Given the description of an element on the screen output the (x, y) to click on. 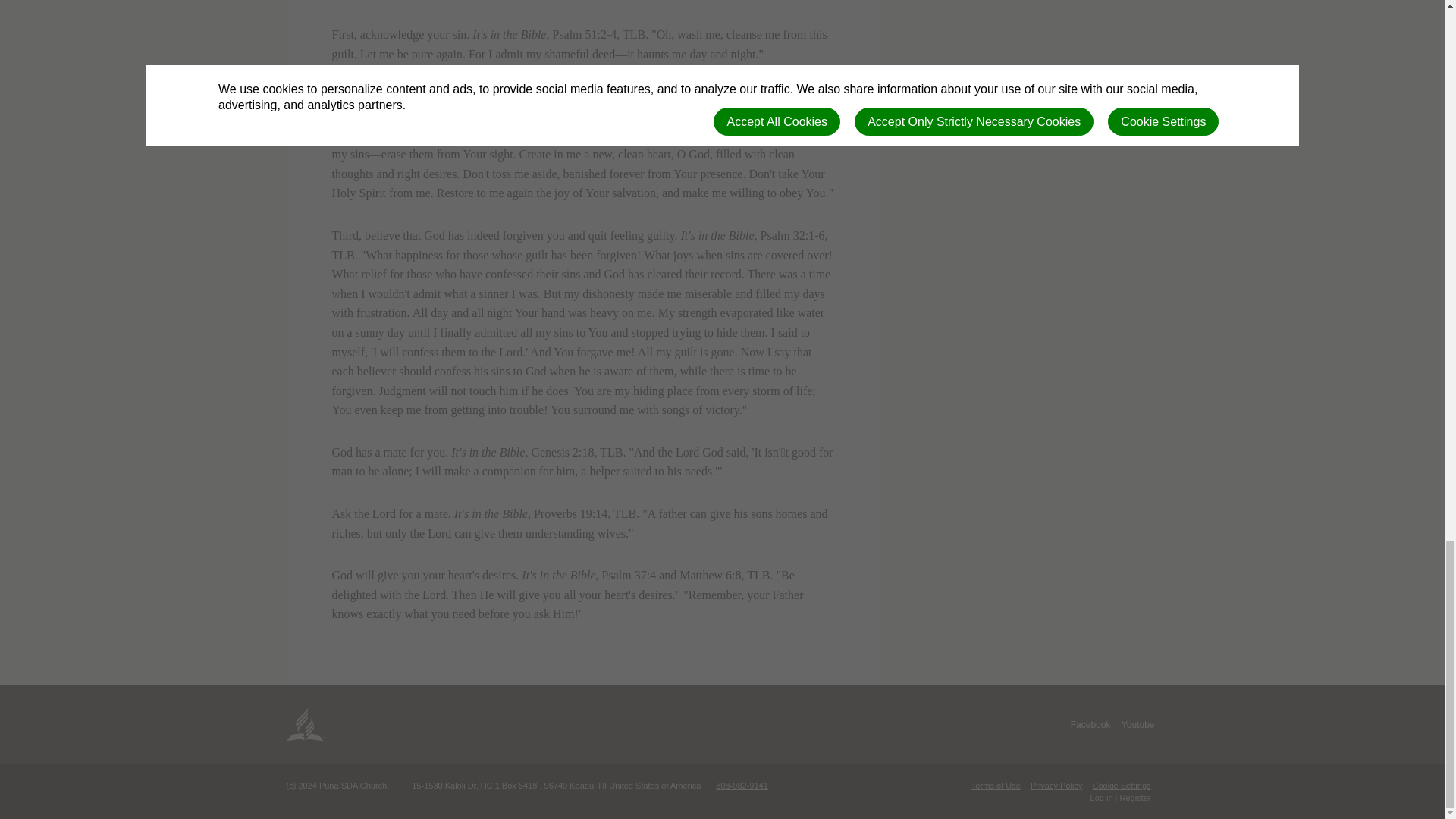
Register (1135, 797)
Seventh Day Adventist Logo (305, 724)
Cookie Settings (1121, 785)
Terms of Use (995, 785)
808-982-9141 (742, 785)
Facebook (1090, 724)
Youtube (1137, 724)
Log in (1101, 797)
Privacy Policy (1055, 785)
